Given the description of an element on the screen output the (x, y) to click on. 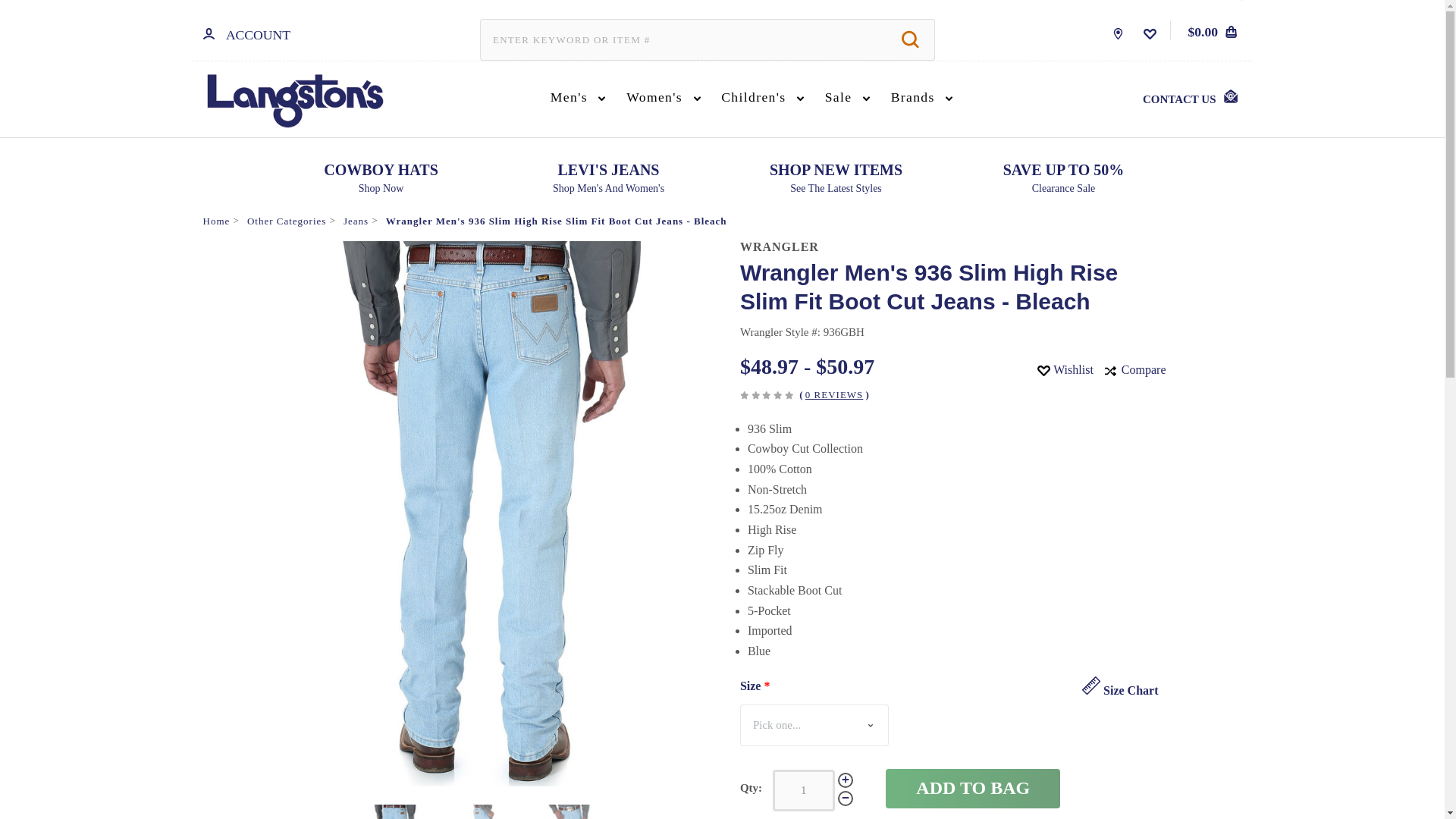
1 (803, 790)
wishlist (1149, 33)
ACCOUNT ACCOUNT (246, 30)
bag (1230, 31)
ACCOUNT (208, 33)
wishlist (1042, 370)
